Given the description of an element on the screen output the (x, y) to click on. 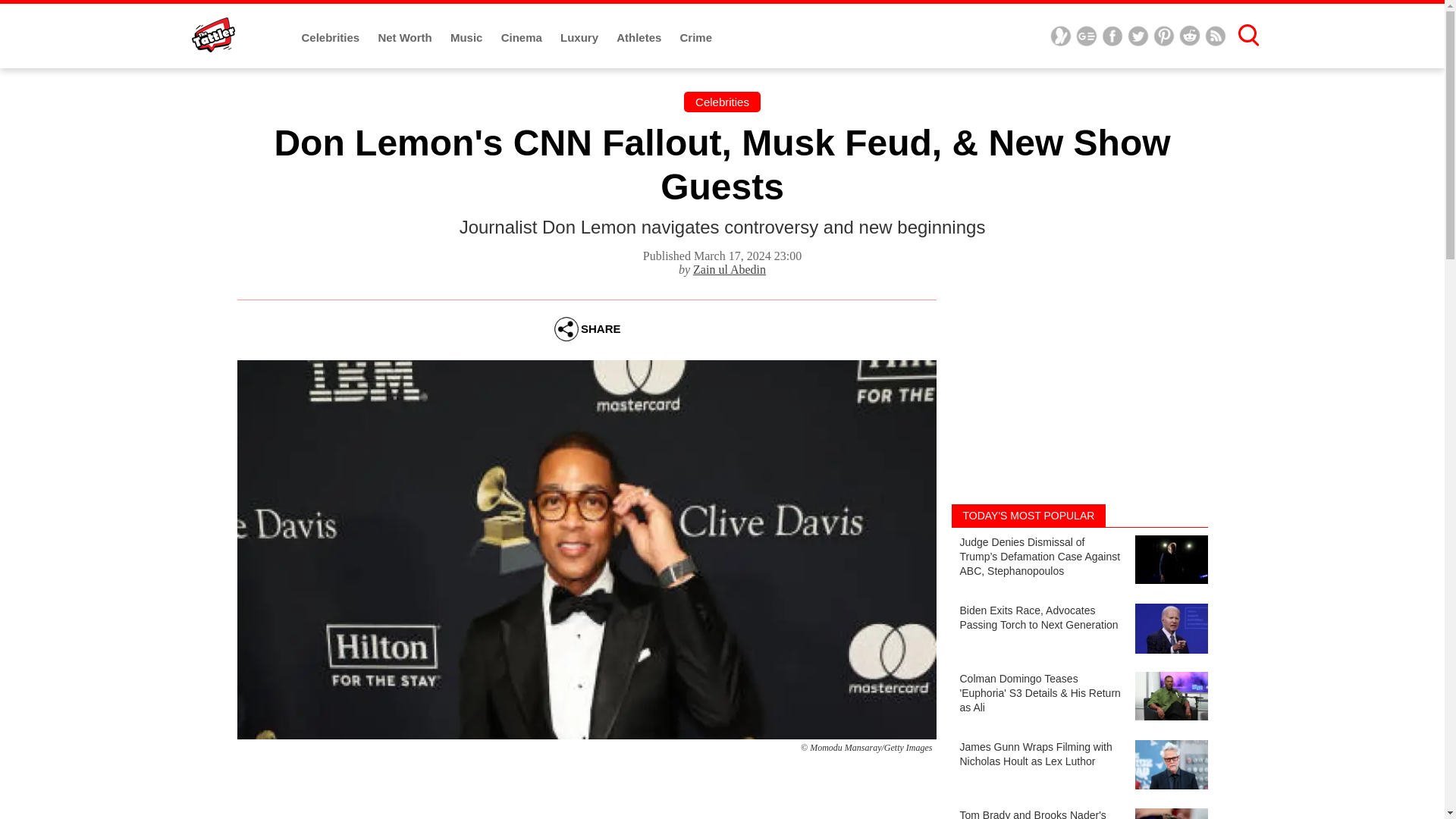
Luxury (580, 37)
Celebrities (722, 101)
Celebrities (331, 37)
Crime (696, 37)
Music (467, 37)
Net Worth (406, 37)
Athletes (639, 37)
Zain ul Abedin (729, 269)
Cinema (522, 37)
